Given the description of an element on the screen output the (x, y) to click on. 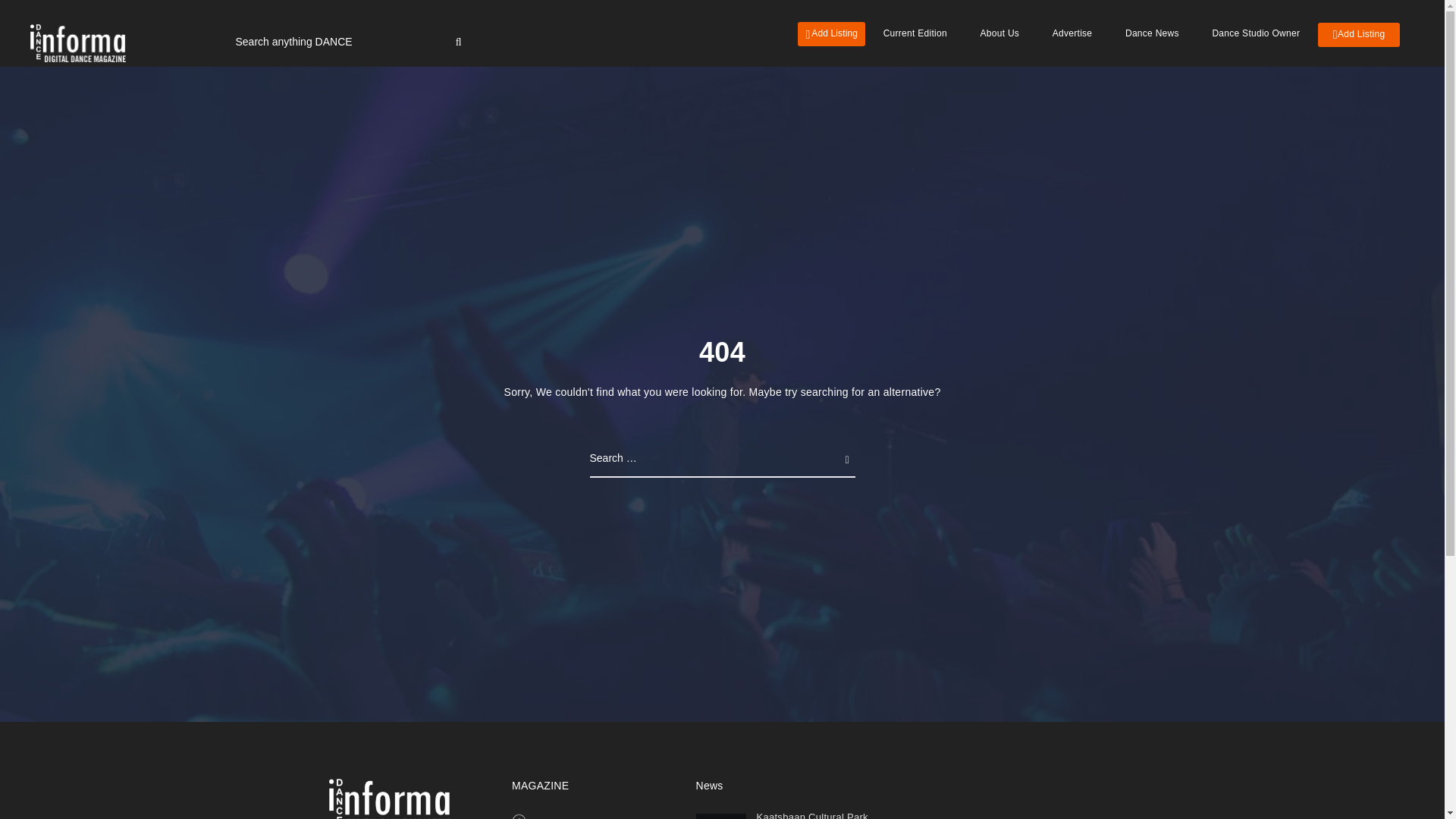
Kaatsbaan Cultural Park Announces 2024 Annual Festival (812, 815)
Current Edition (569, 817)
Current Edition (914, 33)
About Us (1000, 33)
Dance Studio Owner (1255, 33)
Add Listing (1358, 34)
Add Listing (830, 33)
Advertise (1072, 33)
Dance News (1151, 33)
